Given the description of an element on the screen output the (x, y) to click on. 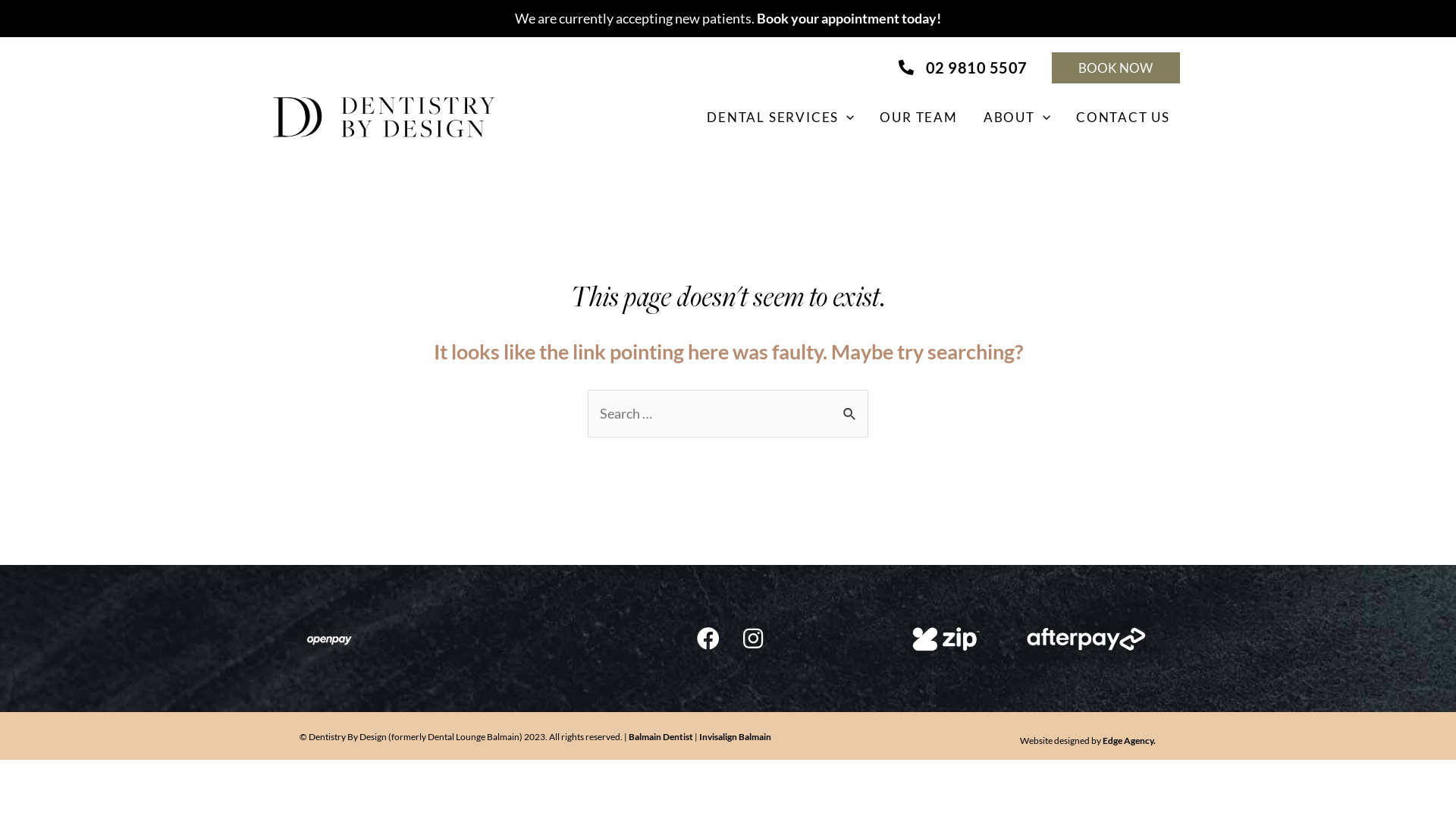
Invisalign Balmain Element type: text (735, 736)
Search Element type: text (851, 421)
ABOUT Element type: text (1016, 117)
DENTAL SERVICES Element type: text (779, 117)
02 9810 5507 Element type: text (961, 67)
OUR TEAM Element type: text (917, 117)
Facebook Element type: text (707, 638)
Instagram Element type: text (752, 638)
CONTACT US Element type: text (1123, 117)
Edge Agency. Element type: text (1128, 740)
Balmain Dentist Element type: text (660, 736)
BOOK NOW Element type: text (1115, 67)
Book your appointment today! Element type: text (848, 17)
